Given the description of an element on the screen output the (x, y) to click on. 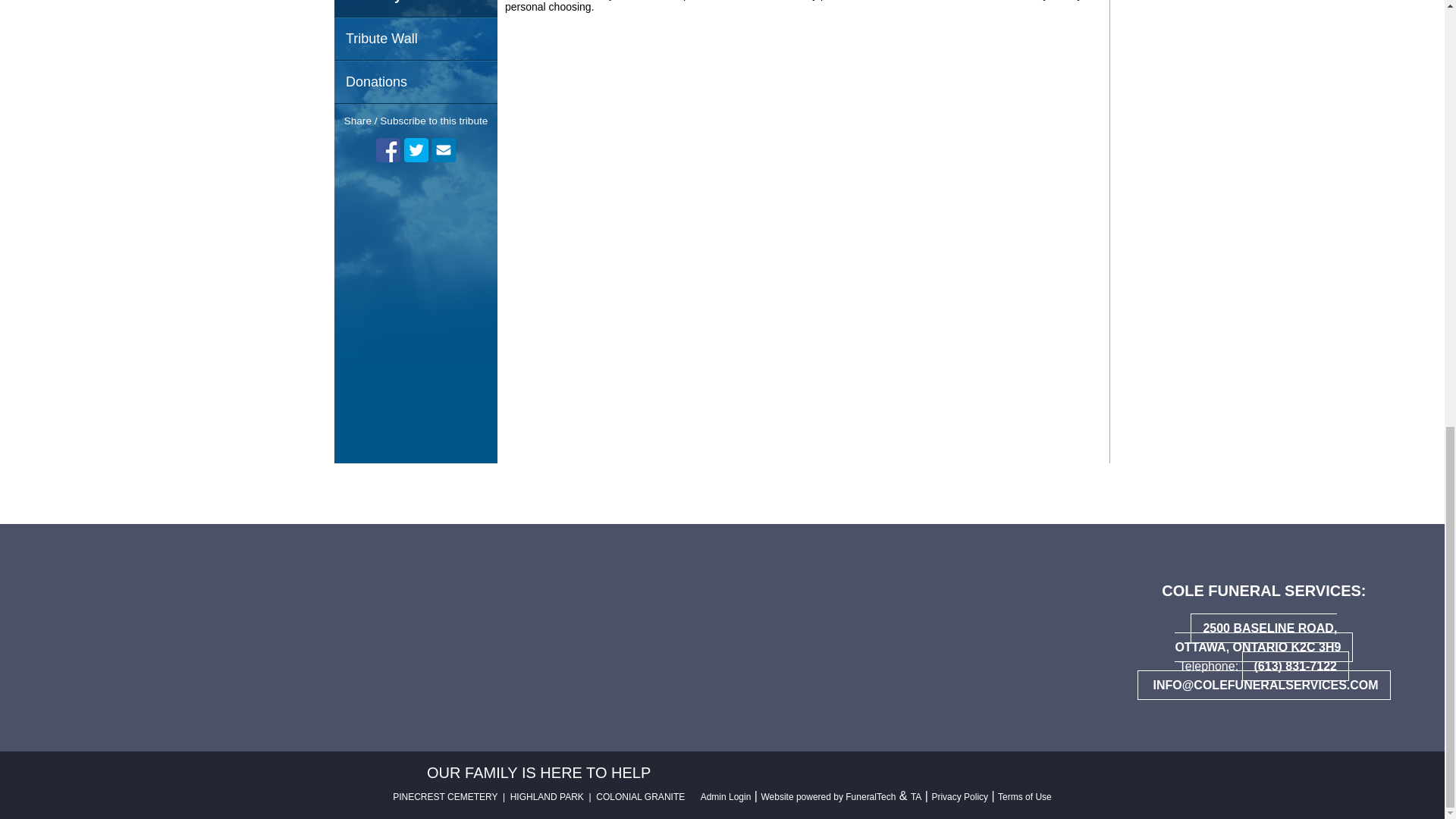
Obituary (415, 8)
Facebook (387, 150)
Receive Notifications (442, 150)
Twitter (415, 150)
